Given the description of an element on the screen output the (x, y) to click on. 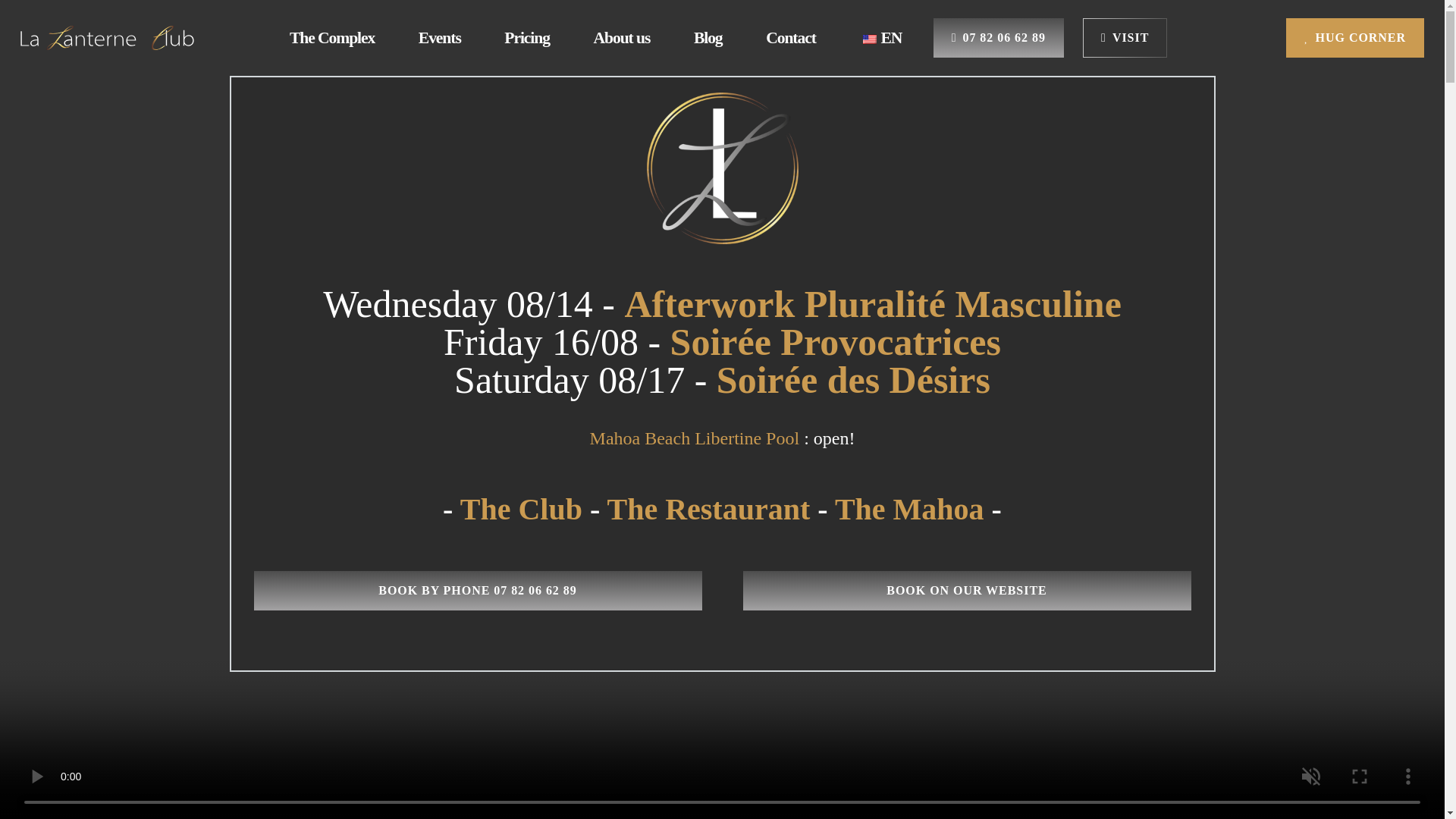
VISIT (1125, 37)
English (869, 39)
About us (621, 38)
The Complex (331, 38)
Pricing (527, 38)
Events (439, 38)
EN (880, 38)
HUG CORNER (1354, 37)
07 82 06 62 89 (998, 37)
Blog (707, 38)
